Given the description of an element on the screen output the (x, y) to click on. 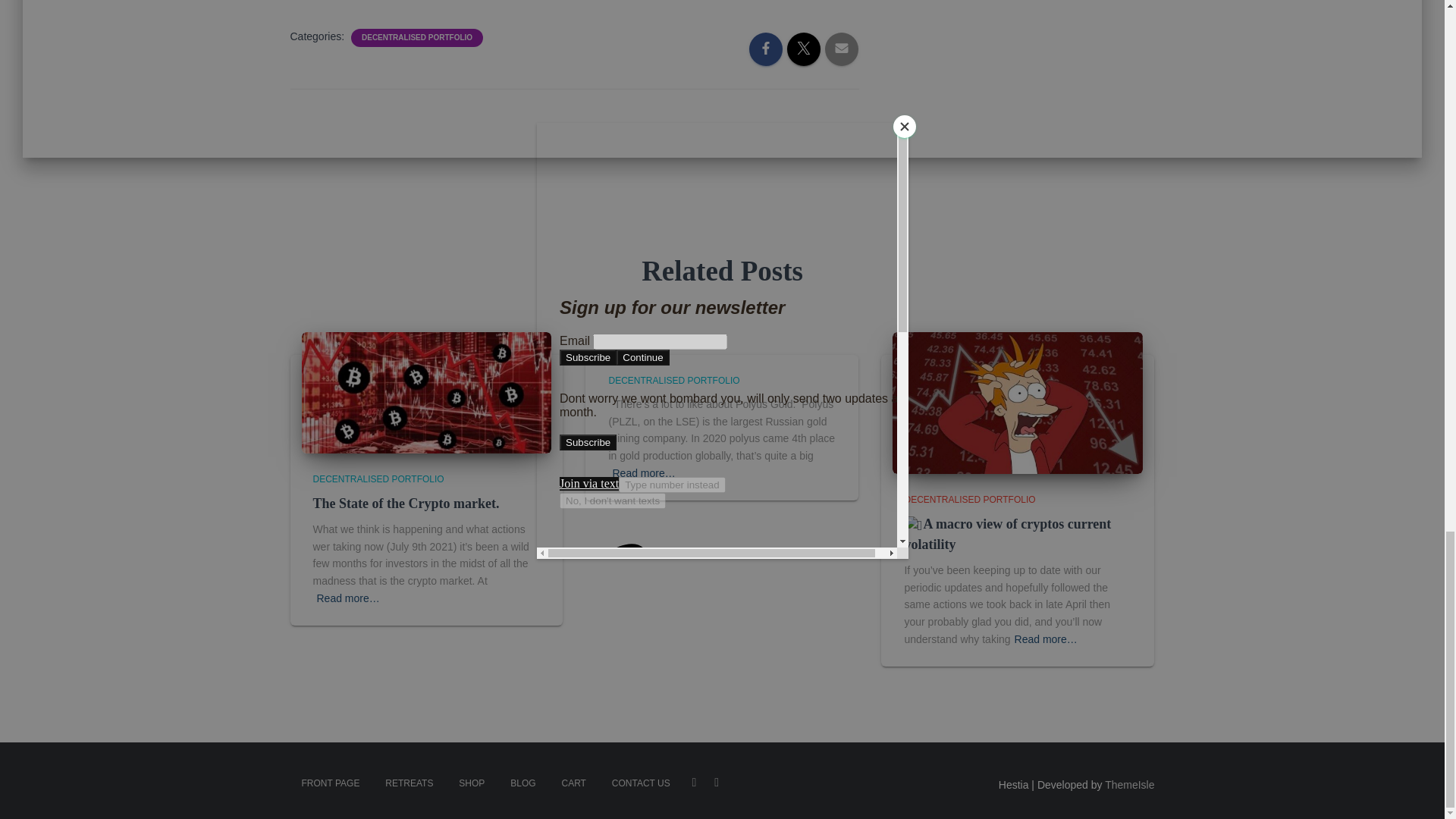
DECENTRALISED PORTFOLIO (416, 37)
DECENTRALISED PORTFOLIO (378, 479)
BLOG (523, 783)
DECENTRALISED PORTFOLIO (673, 380)
View all posts in Decentralised Portfolio (673, 380)
View all posts in Decentralised Portfolio (378, 479)
DECENTRALISED PORTFOLIO (969, 499)
The State of the Crypto market. (406, 503)
The State of the  Crypto market. (406, 503)
View all posts in Decentralised Portfolio (969, 499)
